Given the description of an element on the screen output the (x, y) to click on. 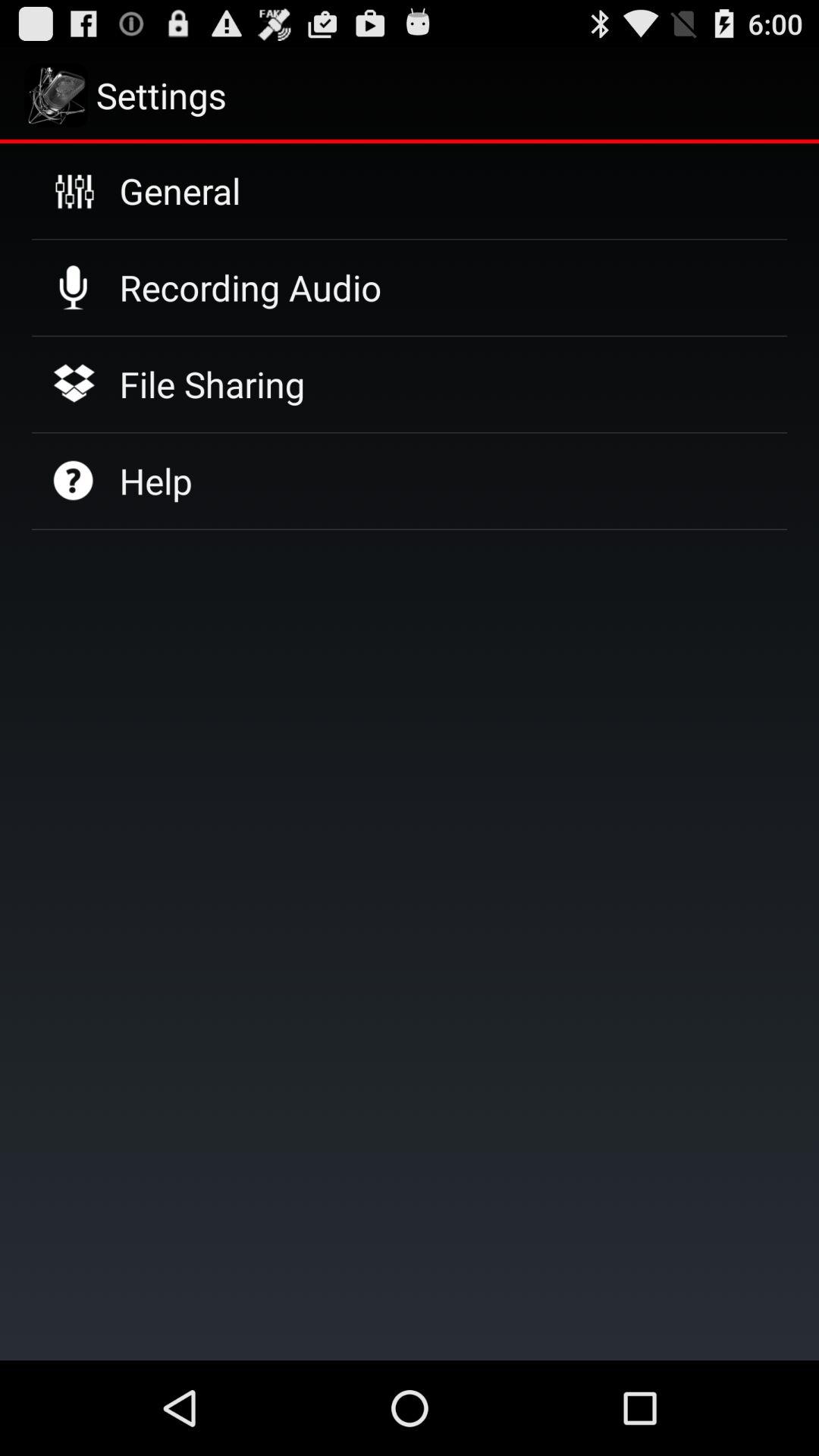
jump to the help (155, 480)
